Given the description of an element on the screen output the (x, y) to click on. 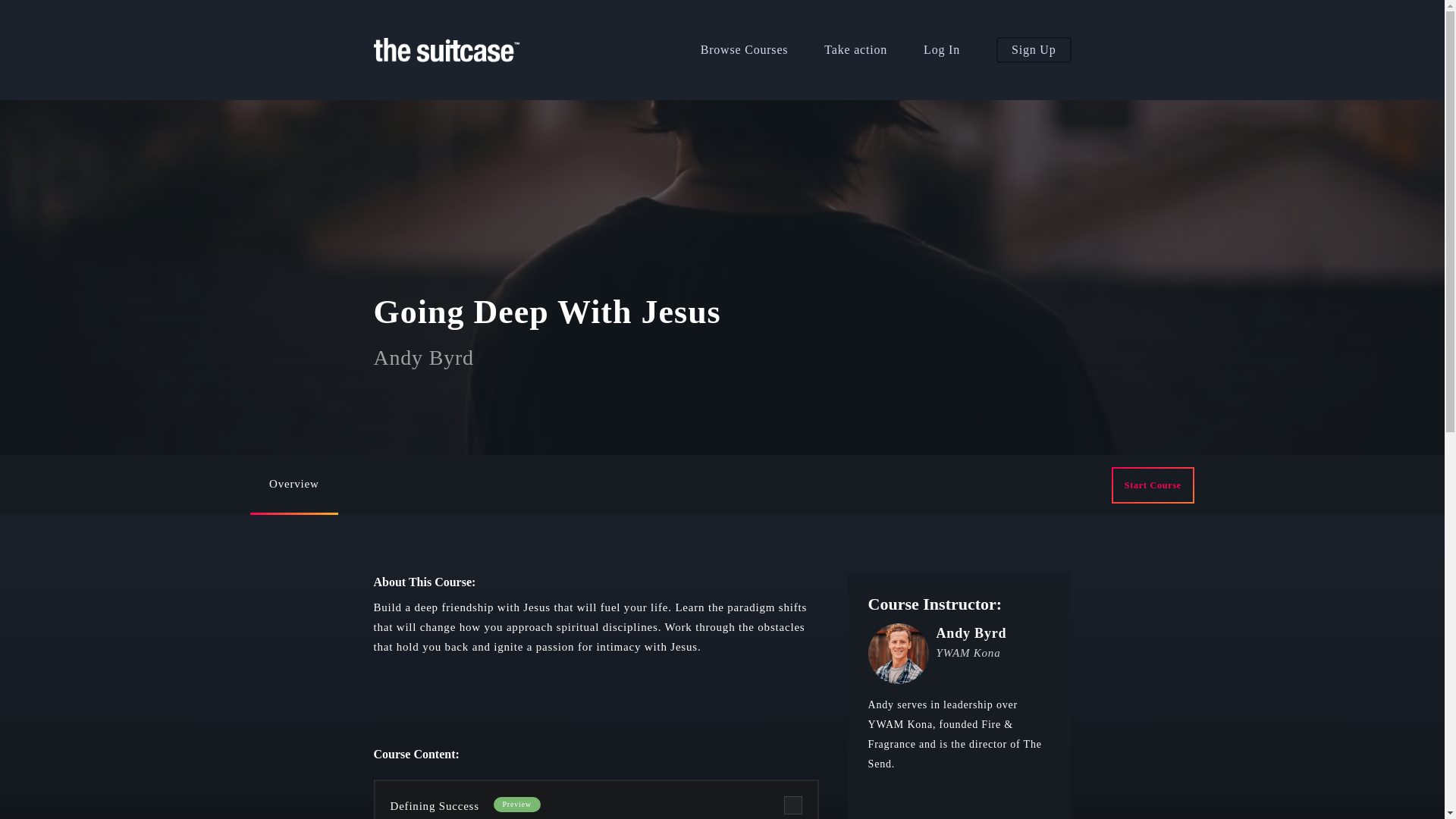
Log In (941, 49)
Start Course (1152, 484)
Defining Success (433, 806)
Sign Up (1033, 49)
Browse Courses (744, 49)
Take action (855, 49)
Overview (293, 485)
